Given the description of an element on the screen output the (x, y) to click on. 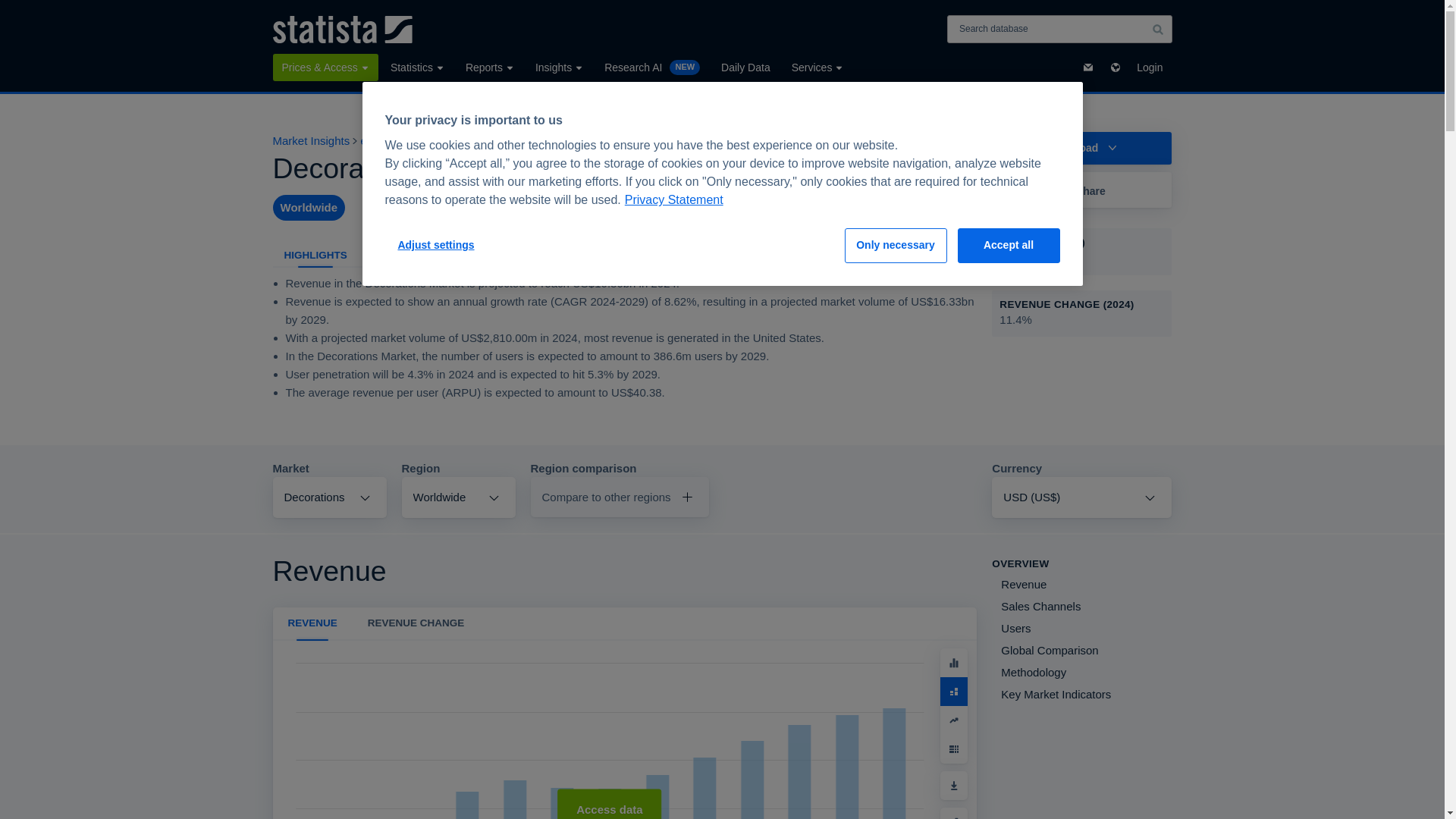
Statistics (416, 67)
Skip to main content (12, 9)
Search for content (1157, 28)
Login (1149, 67)
Reports (489, 67)
Login (1149, 67)
